Given the description of an element on the screen output the (x, y) to click on. 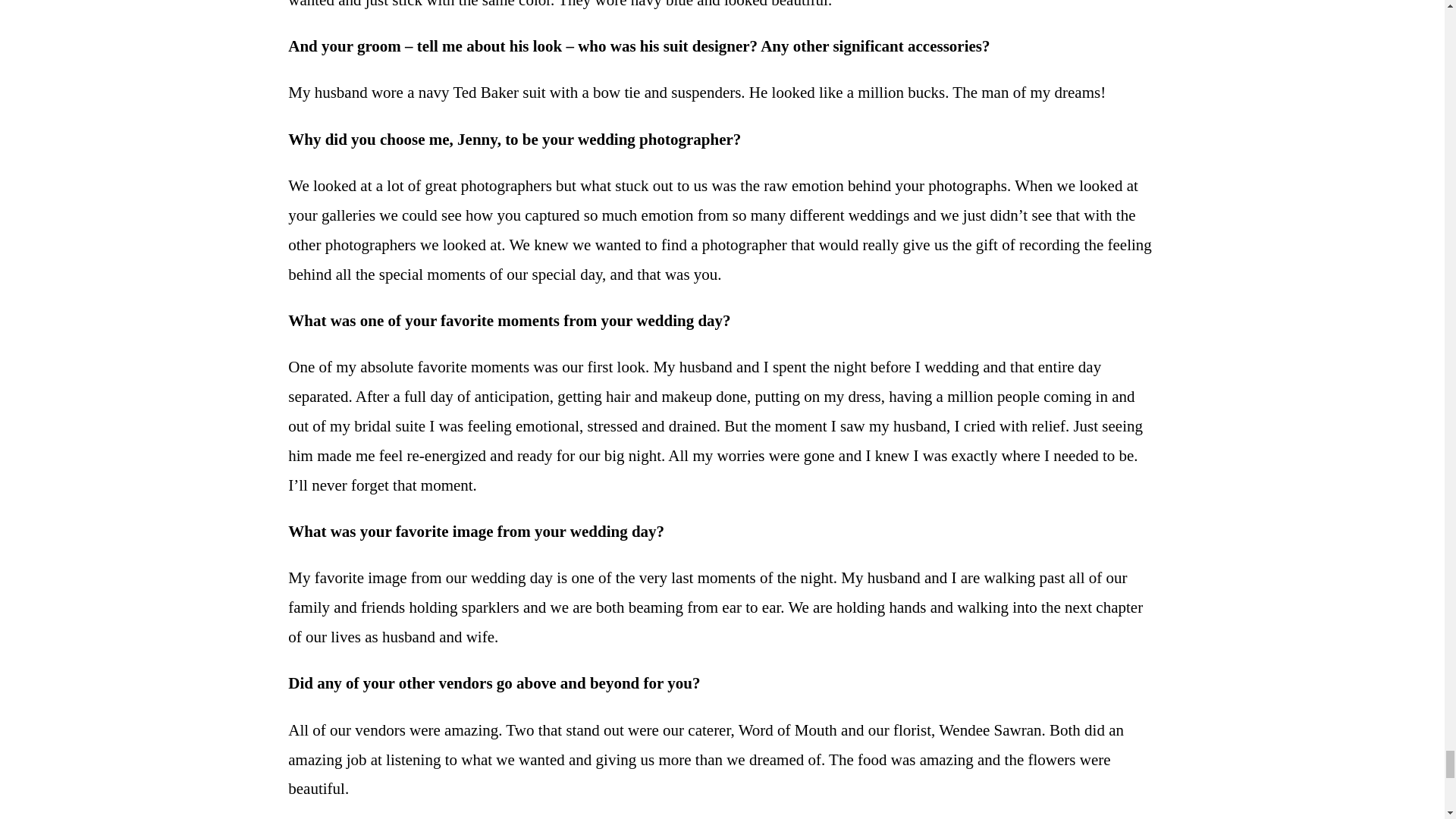
Ted Baker (485, 92)
